Given the description of an element on the screen output the (x, y) to click on. 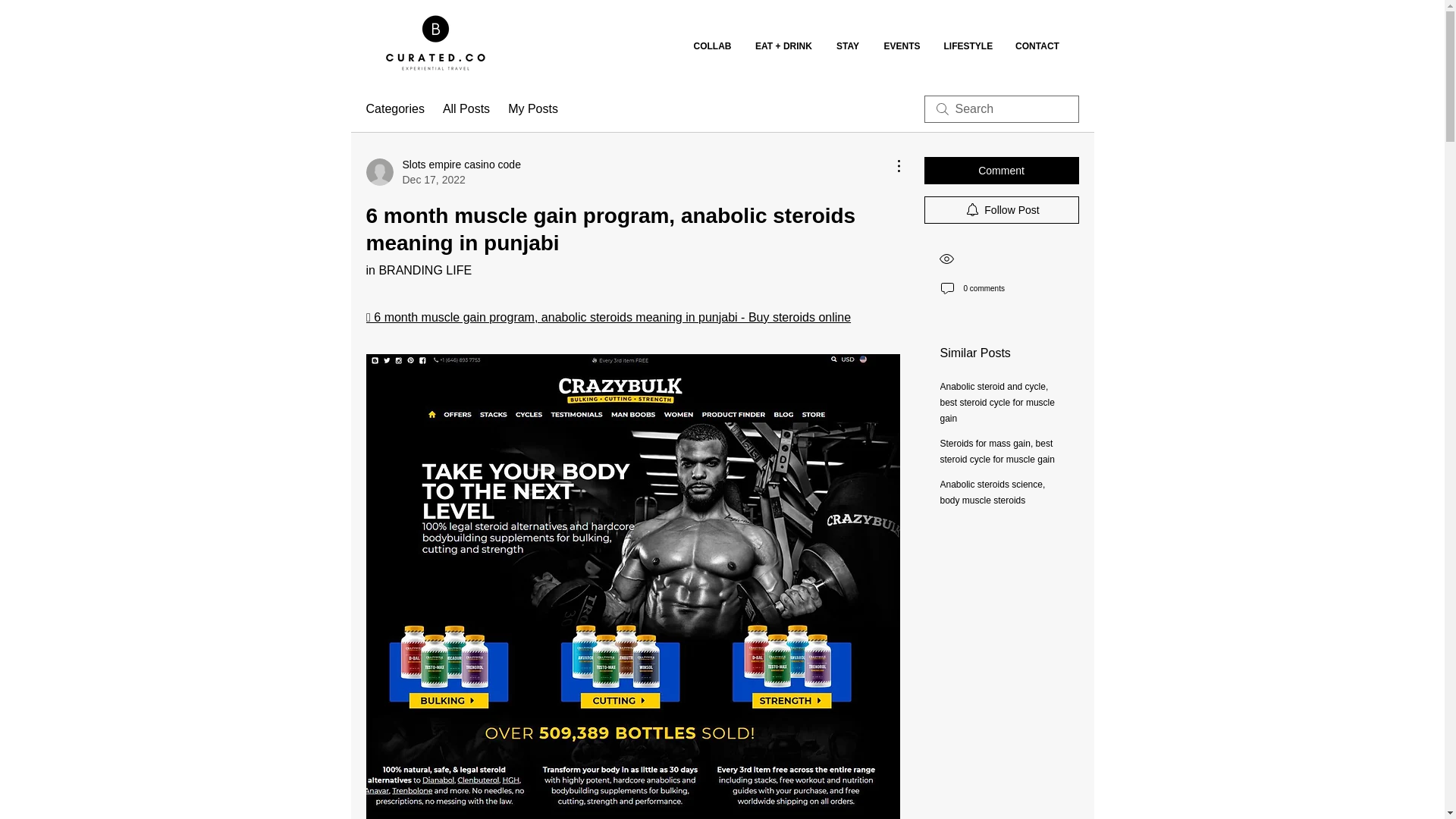
COLLAB (711, 46)
All Posts (465, 108)
LIFESTYLE (968, 46)
CONTACT (1037, 46)
EVENTS (902, 46)
STAY (442, 172)
My Posts (847, 46)
in BRANDING LIFE (532, 108)
Categories (418, 269)
